Given the description of an element on the screen output the (x, y) to click on. 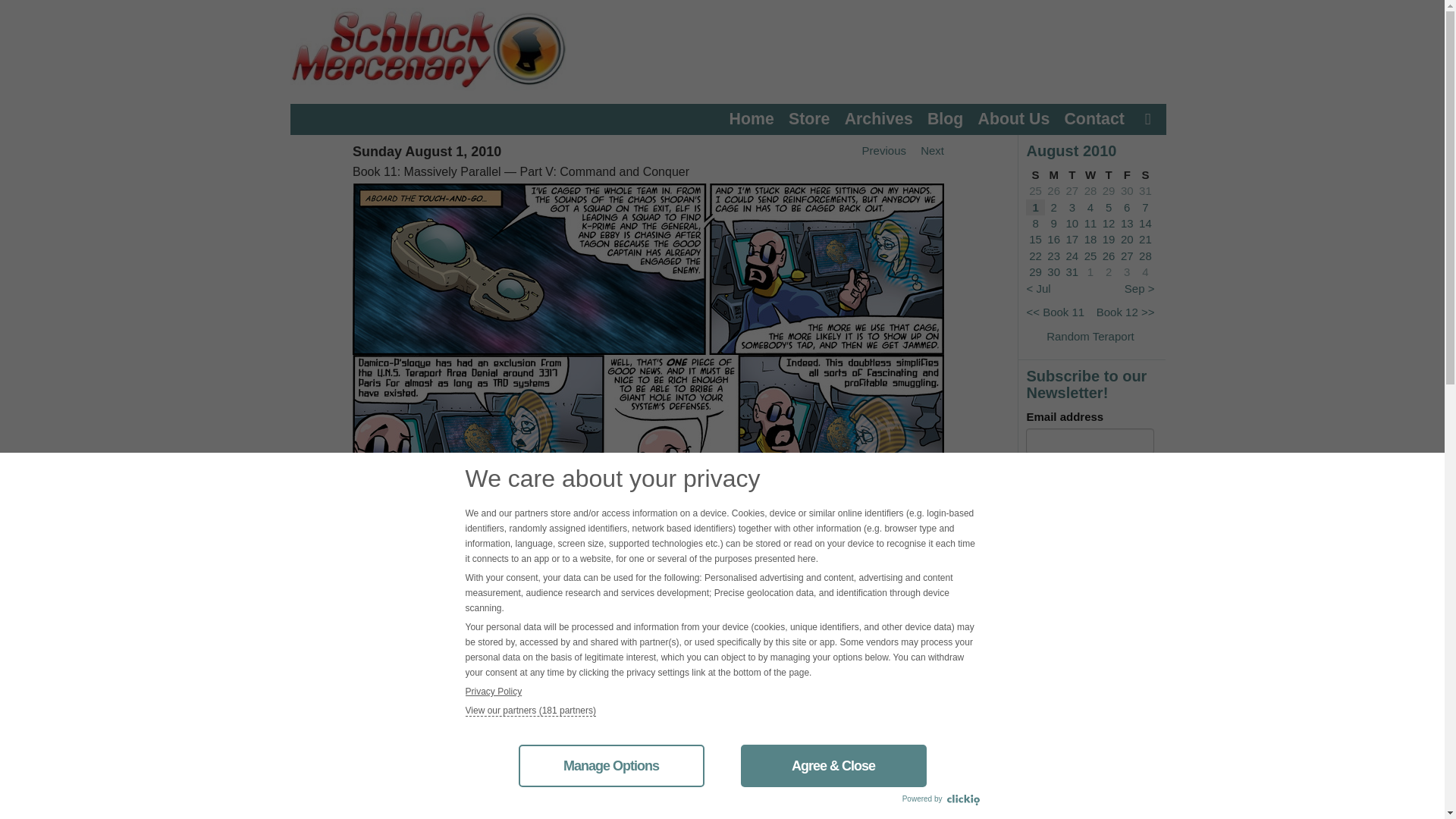
Blog (944, 118)
26 (1052, 190)
Home (751, 118)
true (1030, 814)
27 (1071, 190)
Store (809, 118)
Clickio (962, 800)
Next (925, 150)
Contact (1094, 118)
on (1030, 553)
About Us (1013, 118)
Archives (878, 118)
Go (1133, 678)
29 (1108, 190)
Previous (877, 150)
